Given the description of an element on the screen output the (x, y) to click on. 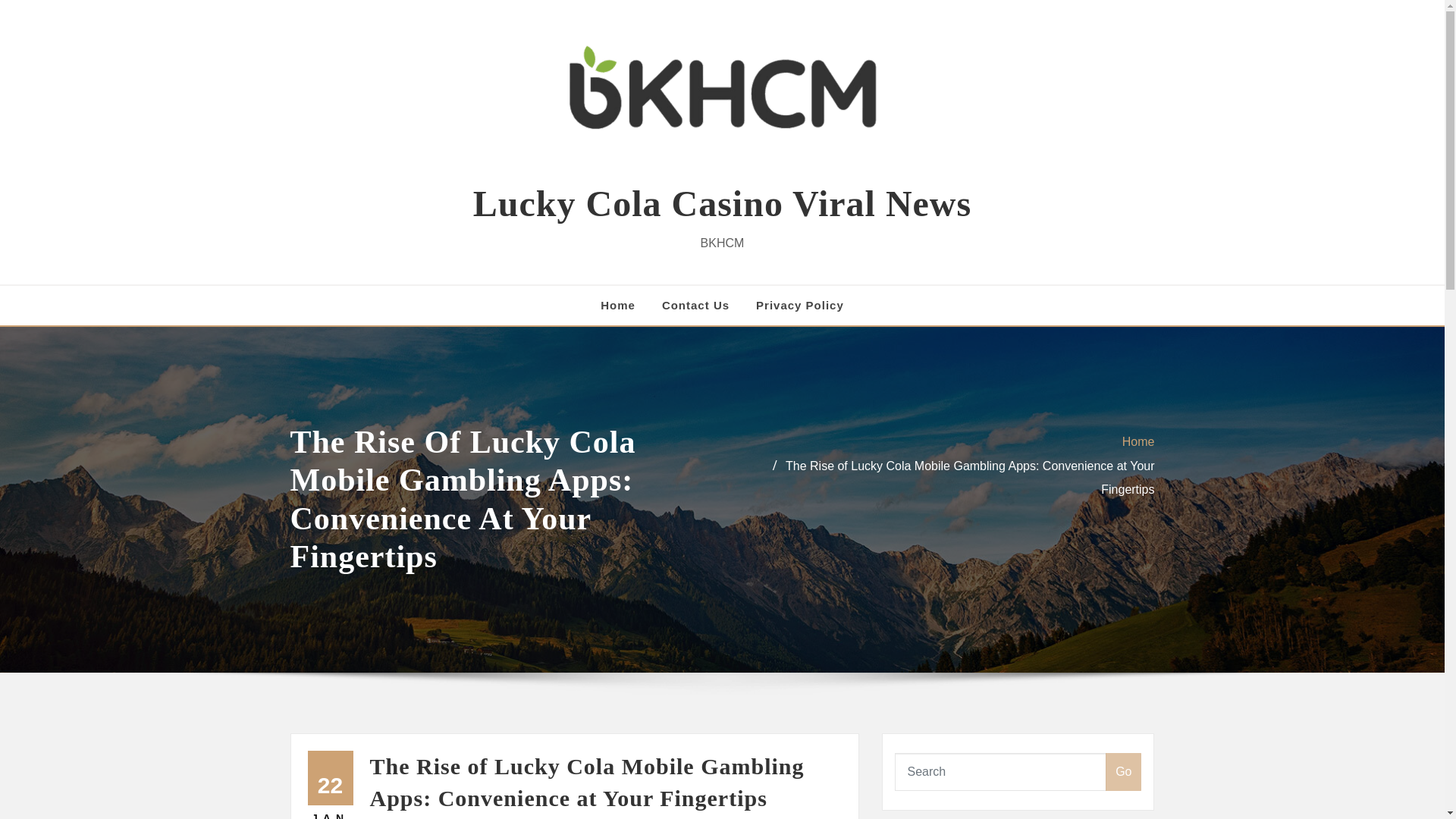
Lucky Cola Casino Viral News (722, 203)
Privacy Policy (799, 305)
Home (1138, 440)
Go (1123, 771)
Home (616, 305)
Contact Us (695, 305)
